Given the description of an element on the screen output the (x, y) to click on. 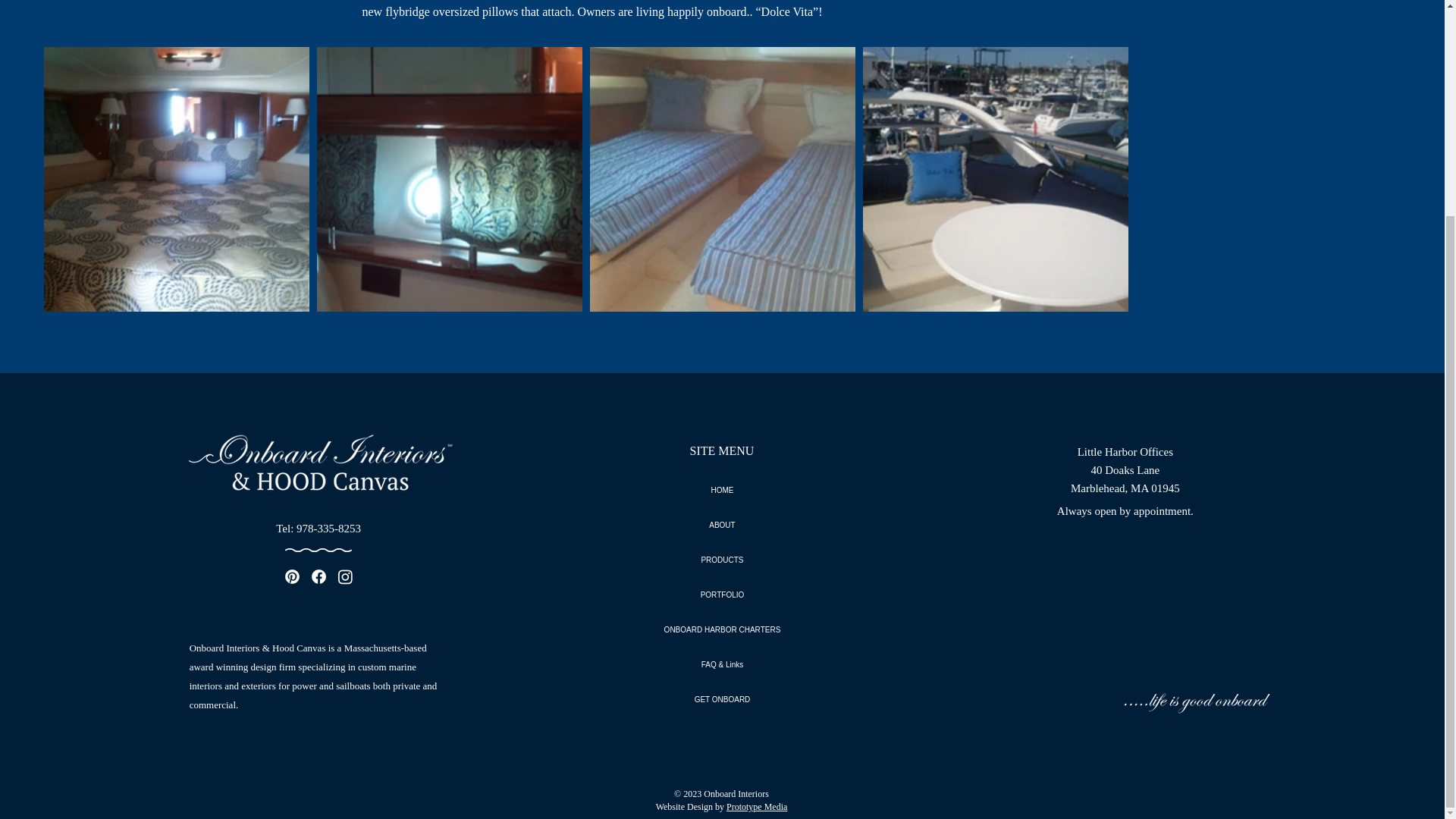
GET ONBOARD (721, 699)
HOME (721, 490)
Prototype Media (756, 806)
ABOUT (721, 524)
ONBOARD HARBOR CHARTERS (721, 629)
PRODUCTS (721, 560)
978-335-8253 (329, 528)
PORTFOLIO (721, 595)
